Given the description of an element on the screen output the (x, y) to click on. 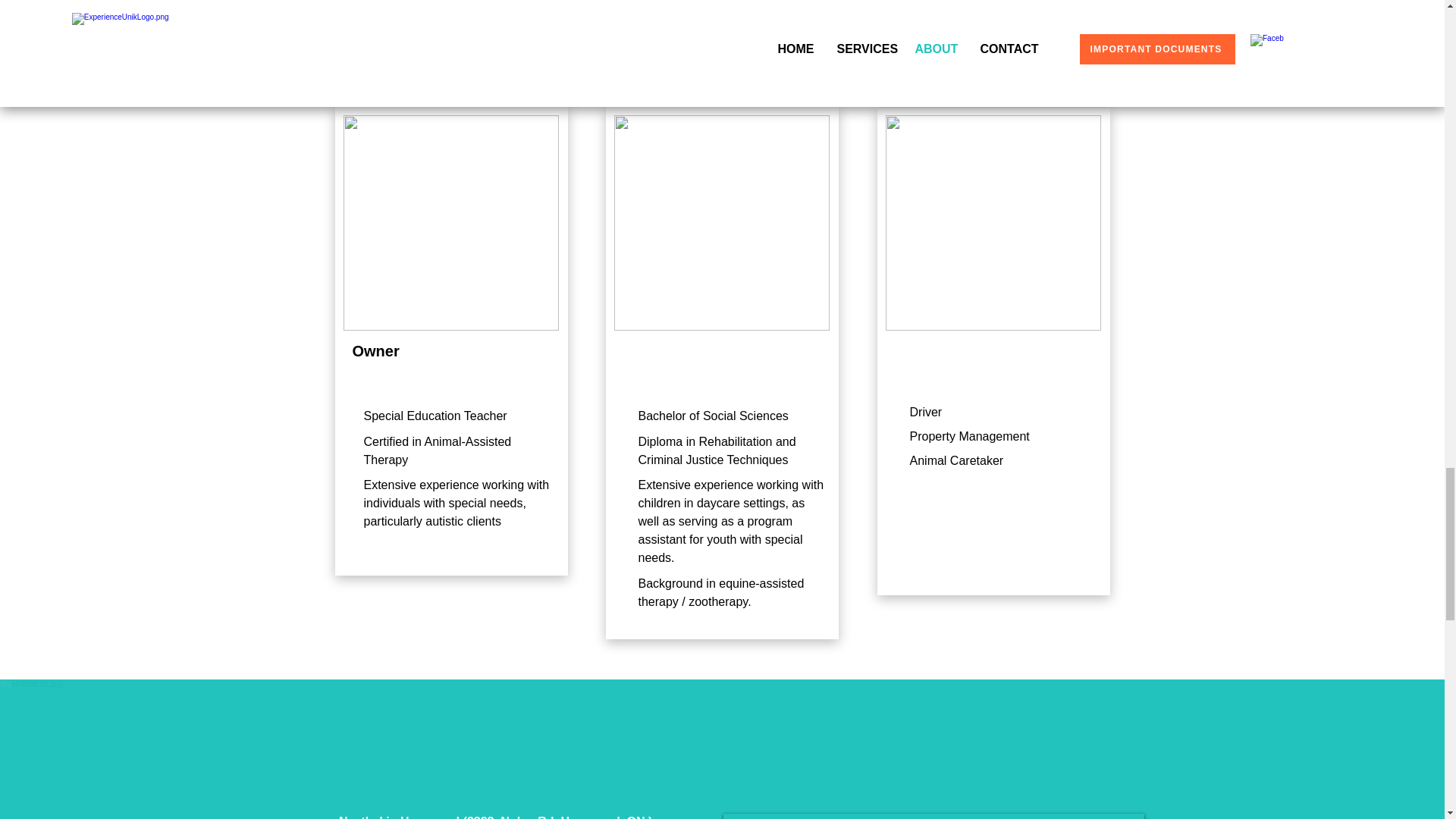
Marc.png (992, 222)
Marie-Jo.png (449, 222)
Val.png (721, 222)
